Given the description of an element on the screen output the (x, y) to click on. 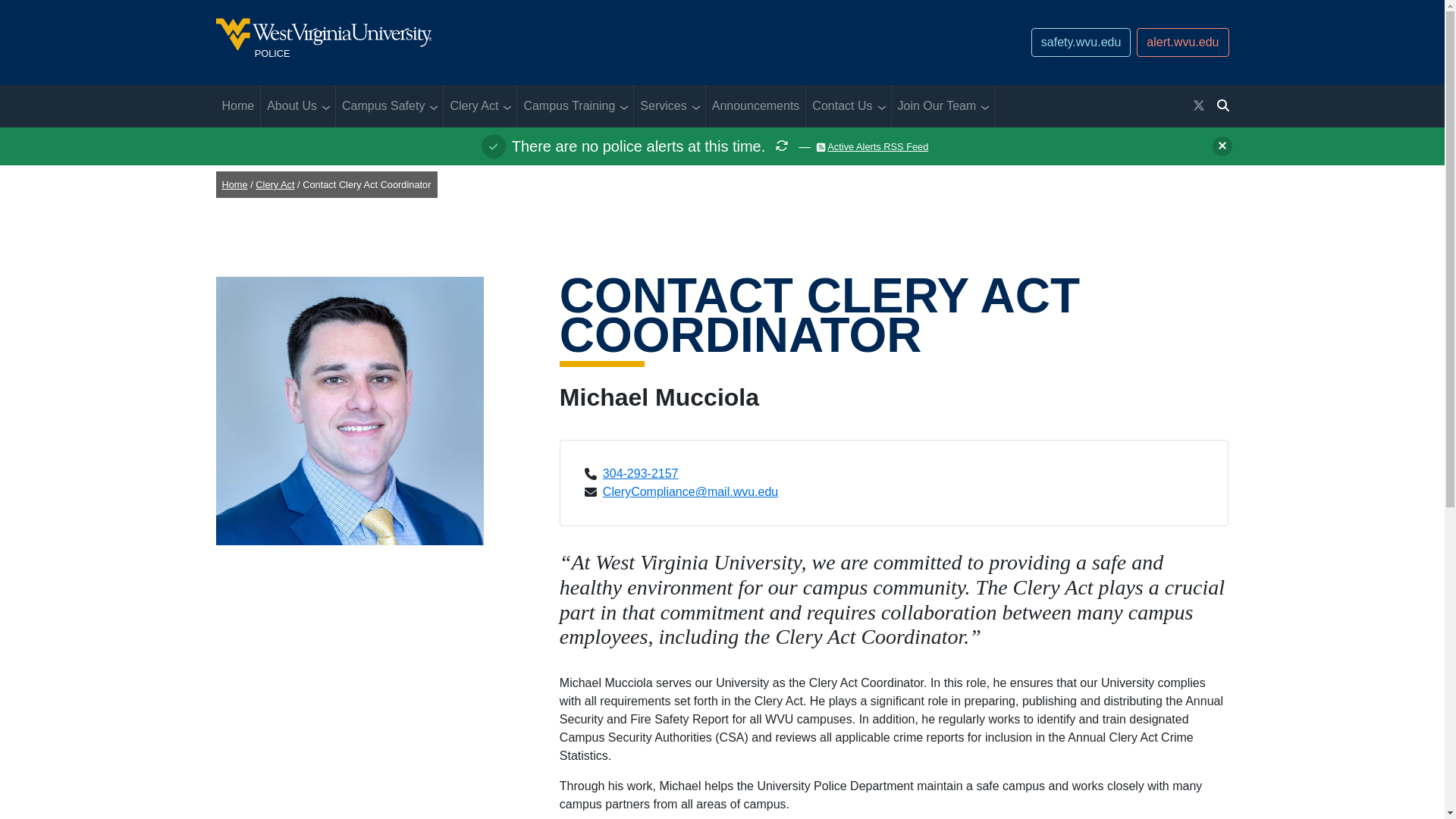
Services (659, 106)
safety.wvu.edu (1080, 41)
Reload page to refresh status (781, 146)
Campus Training (565, 106)
alert.wvu.edu (550, 42)
Home (1182, 41)
Campus Safety (237, 106)
Clery Act (380, 106)
About Us (470, 106)
